Given the description of an element on the screen output the (x, y) to click on. 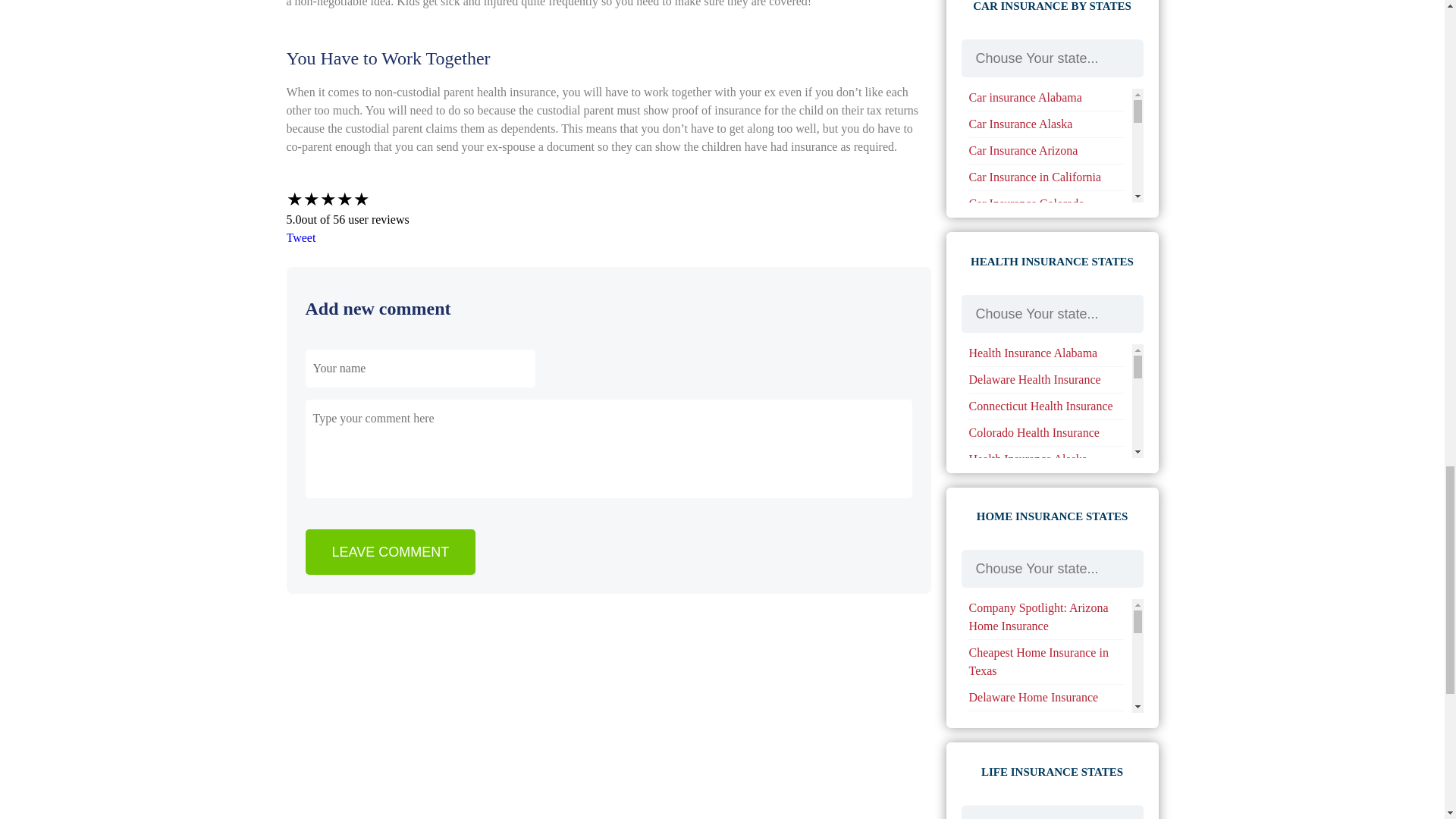
Car Insurance Alaska (1021, 123)
Car Insurance in Arkansas (1032, 327)
Car Insurance Iowa (1016, 425)
Car Insurance Idaho (1018, 300)
Car Insurance Delaware (1027, 229)
Car Insurance in North Carolina (1024, 389)
Car Insurance Colorado (1026, 203)
Car insurance Alabama (1025, 97)
leave comment (390, 551)
Car Insurance in California (1035, 176)
